Given the description of an element on the screen output the (x, y) to click on. 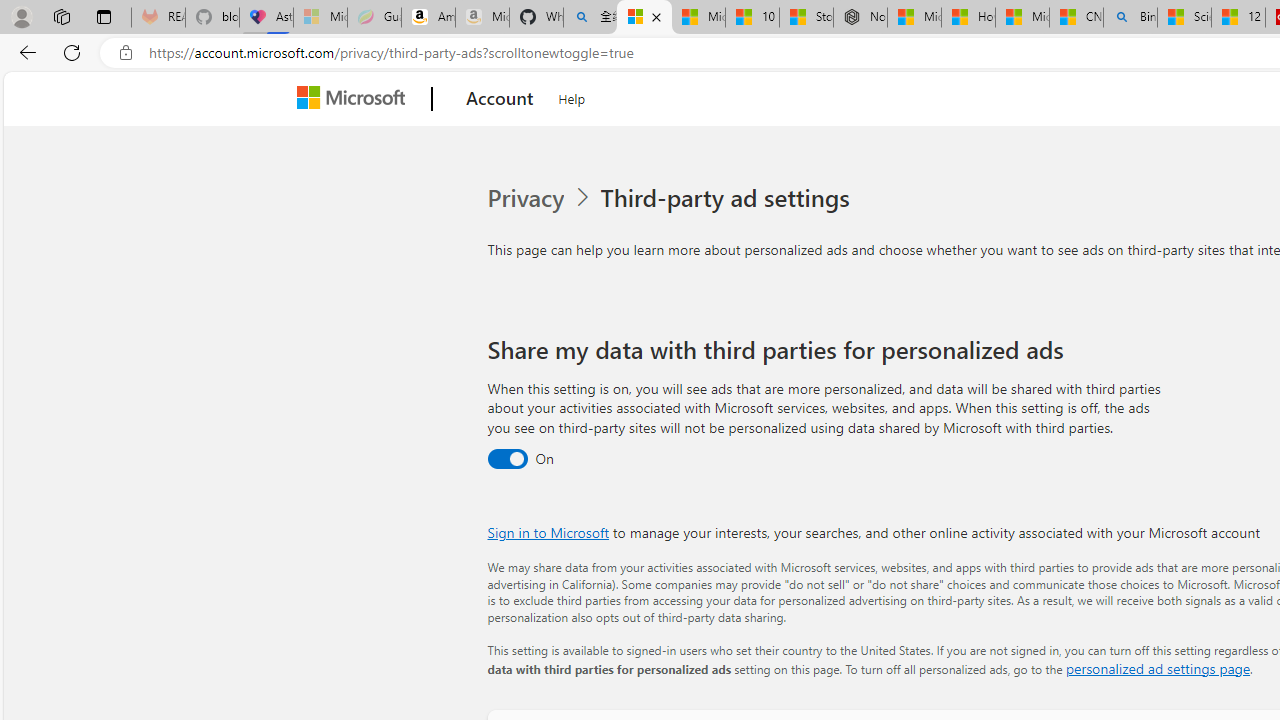
Help (572, 96)
Back (24, 52)
How I Got Rid of Microsoft Edge's Unnecessary Features (968, 17)
Microsoft account | Privacy (644, 17)
Asthma Inhalers: Names and Types (266, 17)
Science - MSN (1184, 17)
Sign in to Microsoft (548, 532)
Workspaces (61, 16)
12 Popular Science Lies that Must be Corrected (1238, 17)
Tab actions menu (104, 16)
Third-party ad settings (729, 197)
Microsoft (354, 99)
Stocks - MSN (806, 17)
